Given the description of an element on the screen output the (x, y) to click on. 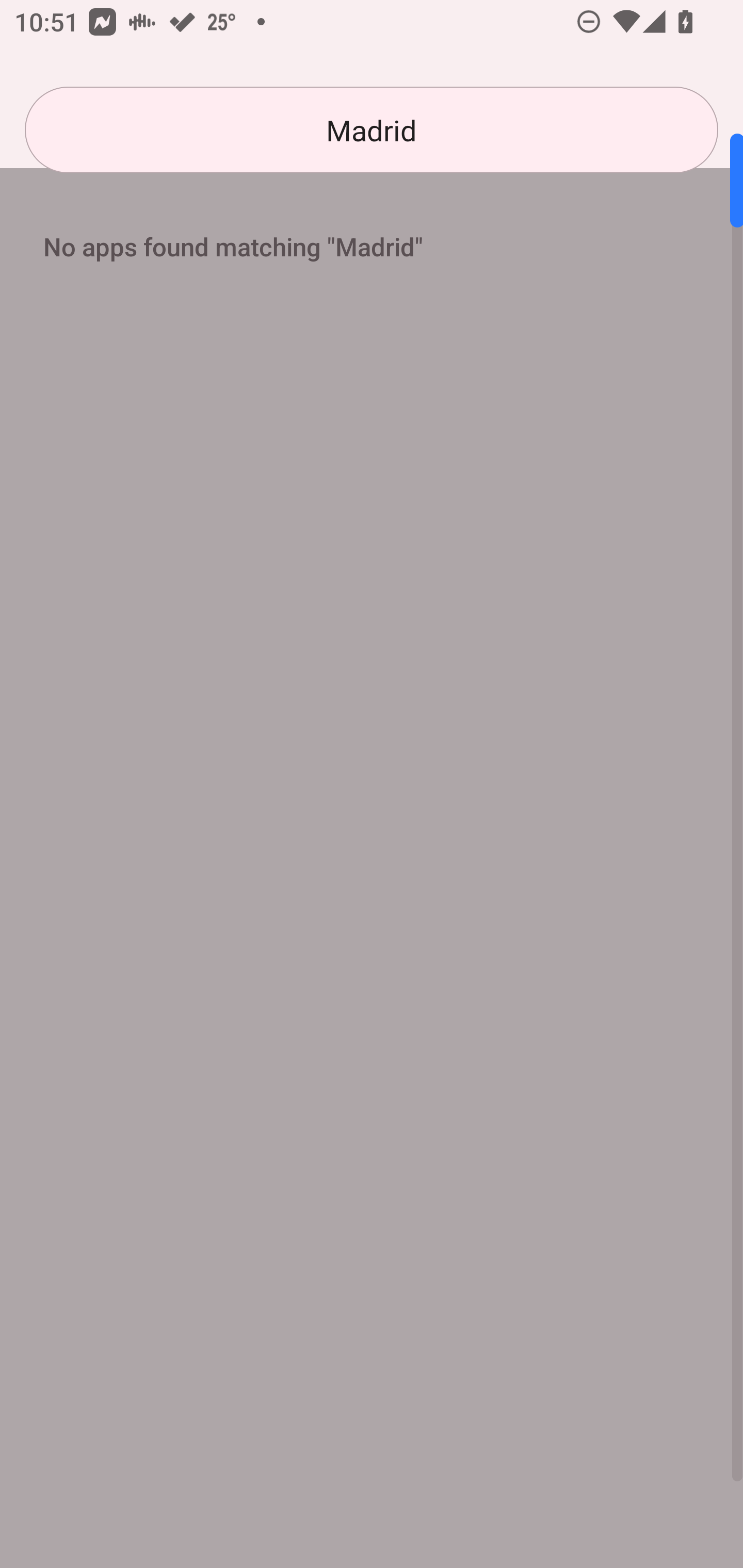
Madrid (371, 130)
